Given the description of an element on the screen output the (x, y) to click on. 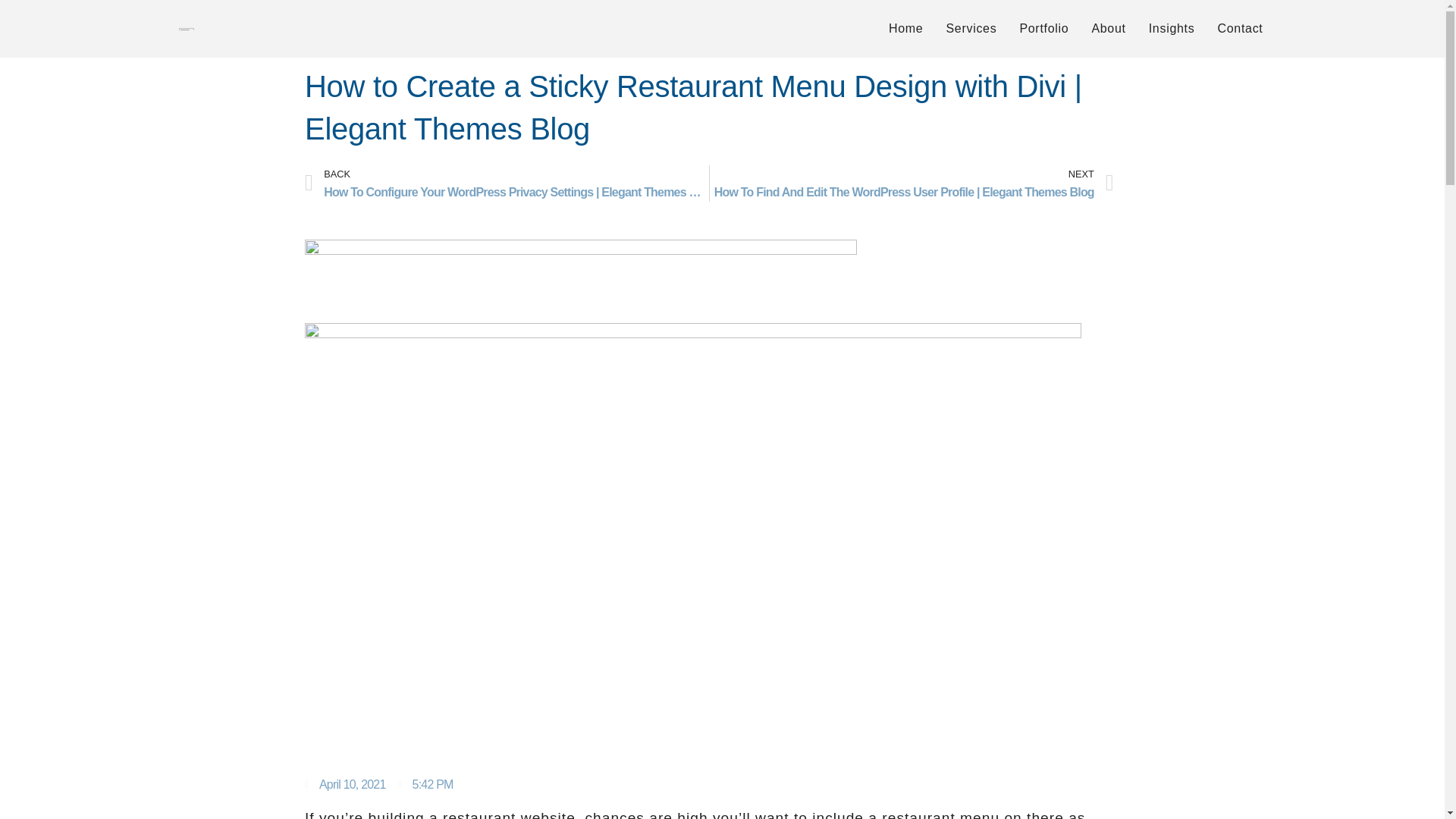
Contact (1239, 28)
Portfolio (1043, 28)
About (1108, 28)
Services (970, 28)
Insights (1172, 28)
Home (905, 28)
